Given the description of an element on the screen output the (x, y) to click on. 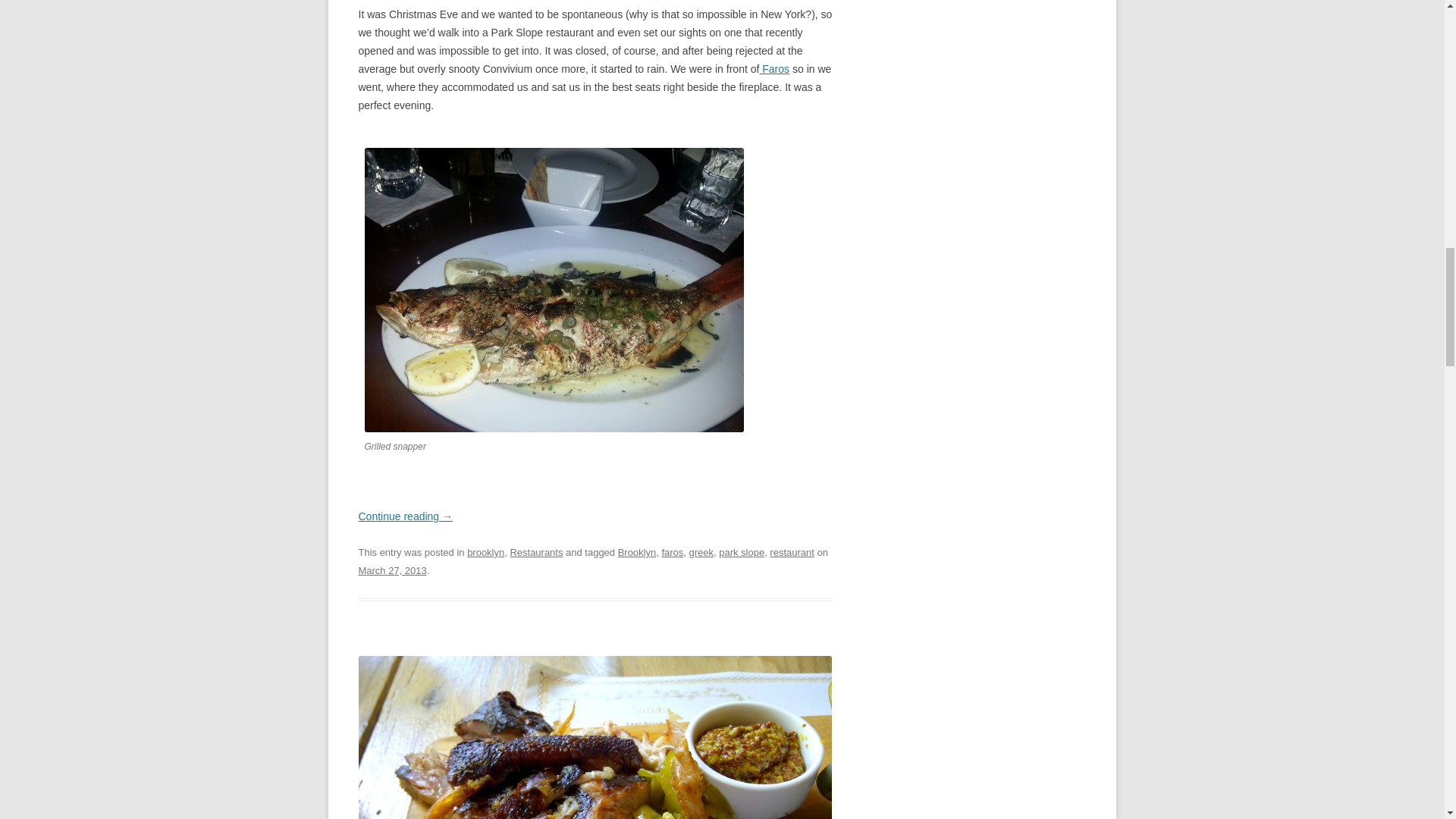
greek (700, 552)
Restaurants (535, 552)
faros (671, 552)
brooklyn (485, 552)
10:37 am (392, 570)
Brooklyn (636, 552)
park slope (741, 552)
Faros (773, 69)
restaurant (791, 552)
